Given the description of an element on the screen output the (x, y) to click on. 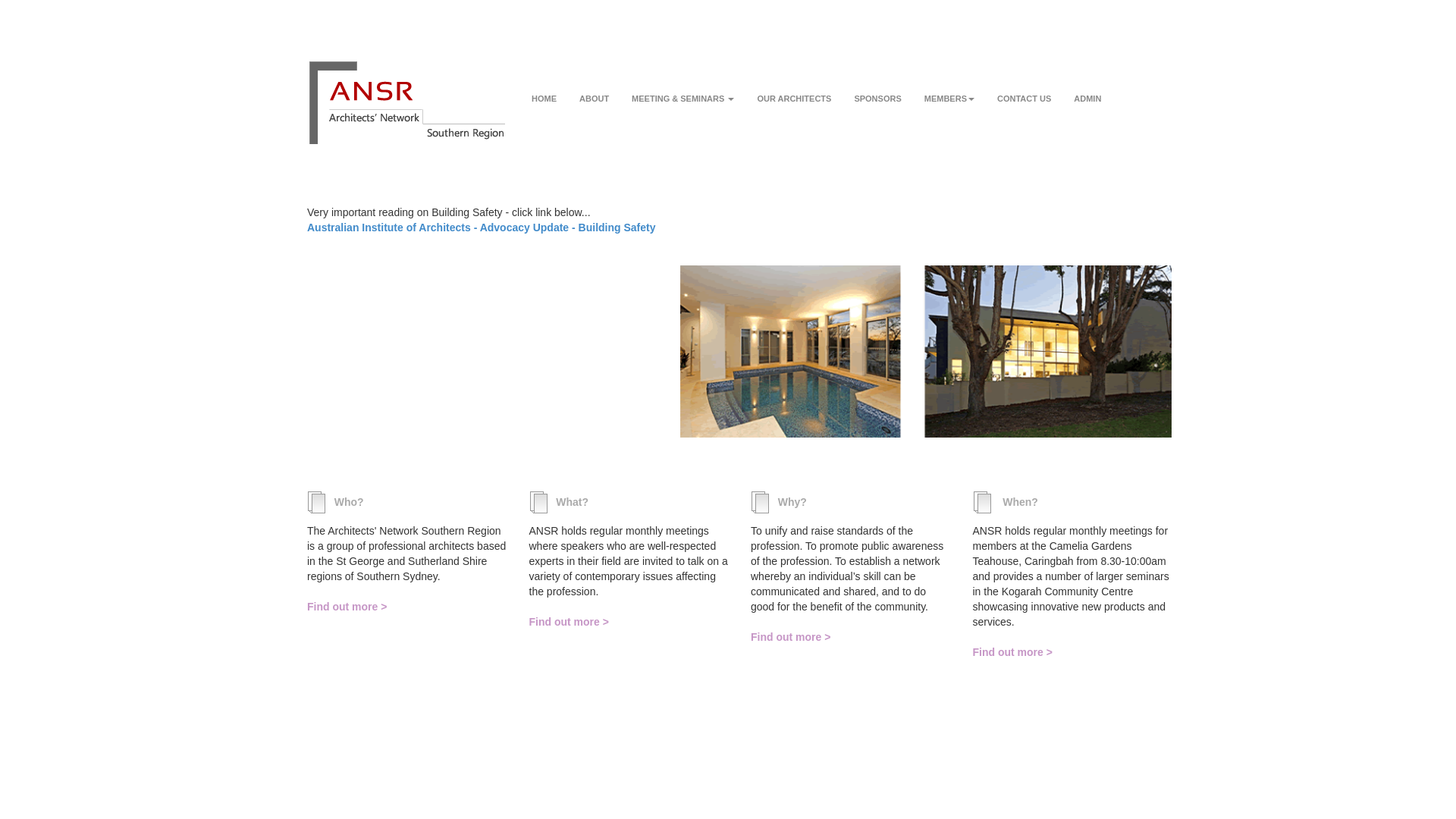
Find out more > Element type: text (628, 621)
ADMIN Element type: text (1087, 86)
OUR ARCHITECTS Element type: text (793, 86)
Find out more > Element type: text (850, 636)
SPONSORS Element type: text (877, 86)
CONTACT US Element type: text (1023, 86)
MEMBERS Element type: text (949, 86)
MEETING & SEMINARS Element type: text (682, 86)
Find out more > Element type: text (1071, 651)
HOME Element type: text (543, 86)
Find out more > Element type: text (406, 606)
ABOUT Element type: text (593, 86)
